Given the description of an element on the screen output the (x, y) to click on. 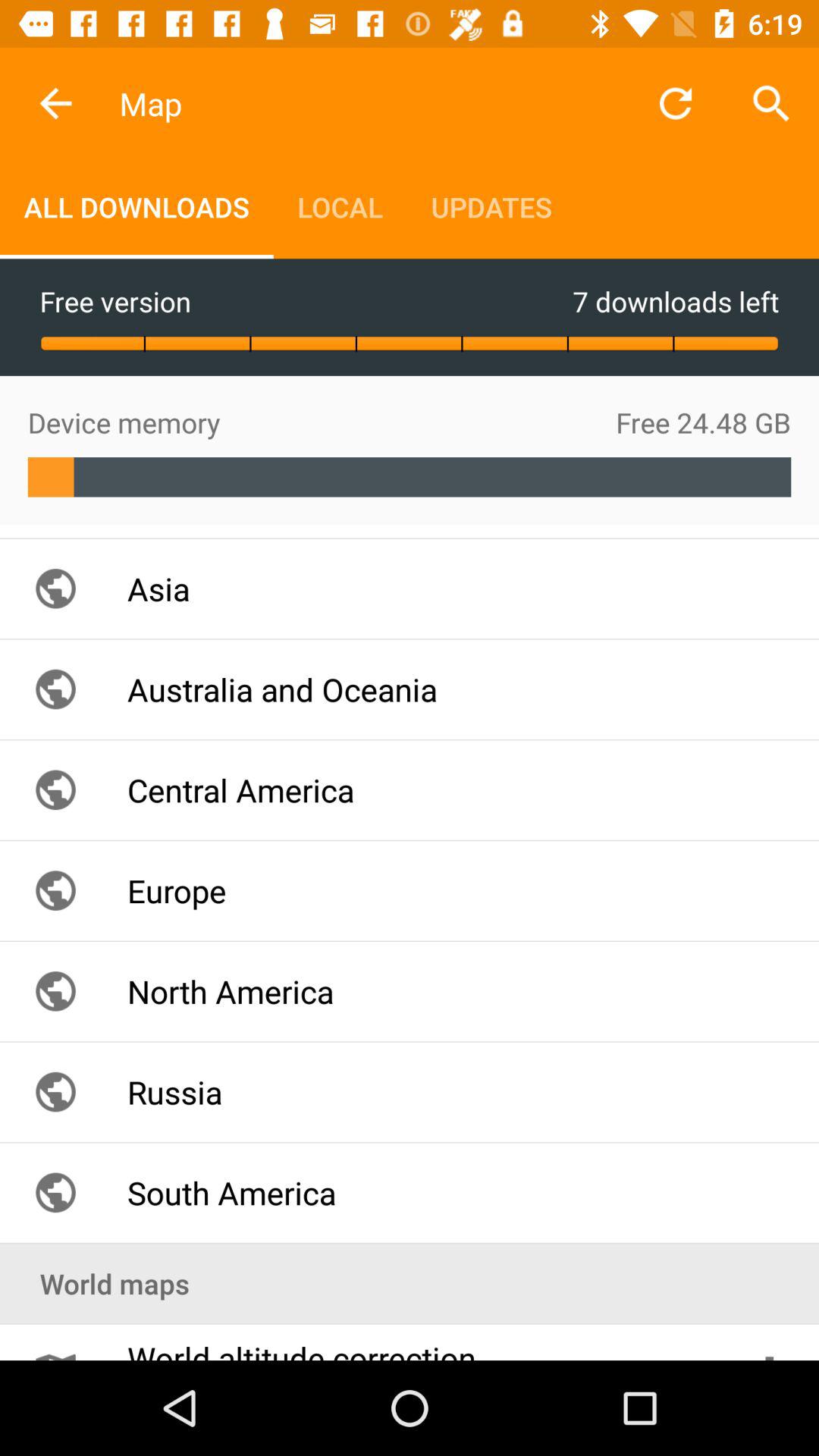
tap item next to local (136, 206)
